Given the description of an element on the screen output the (x, y) to click on. 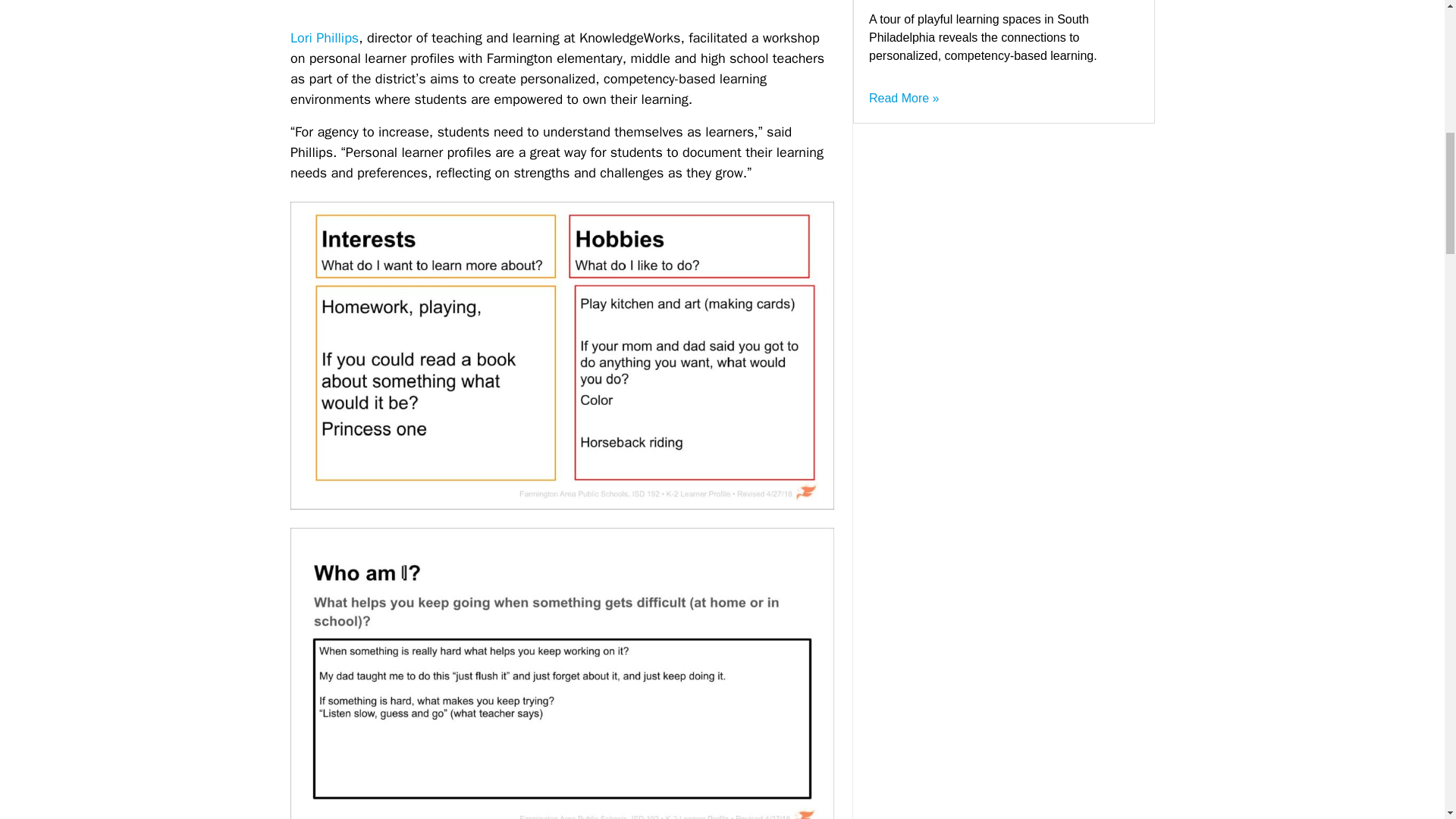
Lori Phillips (323, 37)
